Given the description of an element on the screen output the (x, y) to click on. 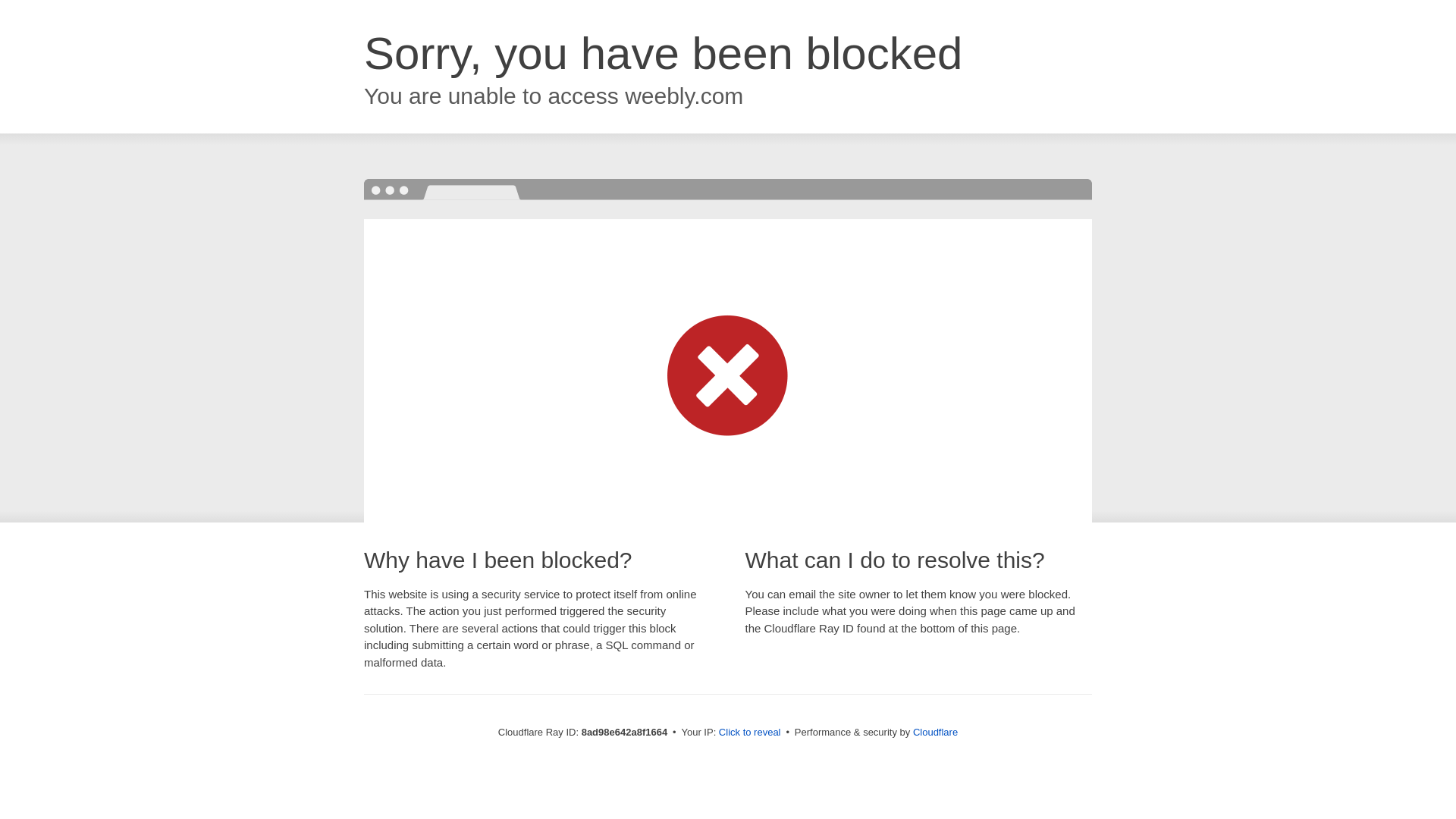
Cloudflare (935, 731)
Click to reveal (749, 732)
